Given the description of an element on the screen output the (x, y) to click on. 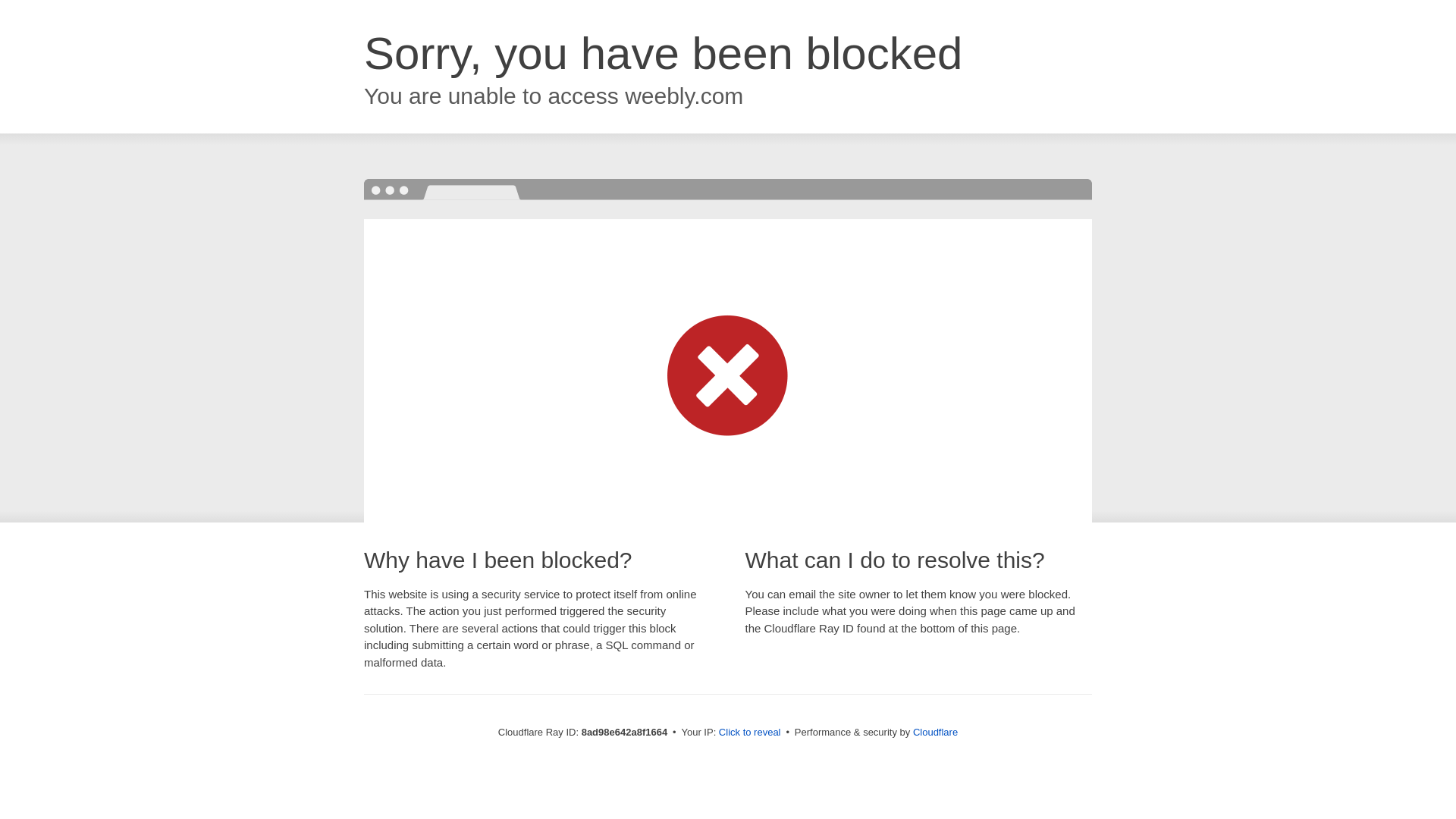
Cloudflare (935, 731)
Click to reveal (749, 732)
